Given the description of an element on the screen output the (x, y) to click on. 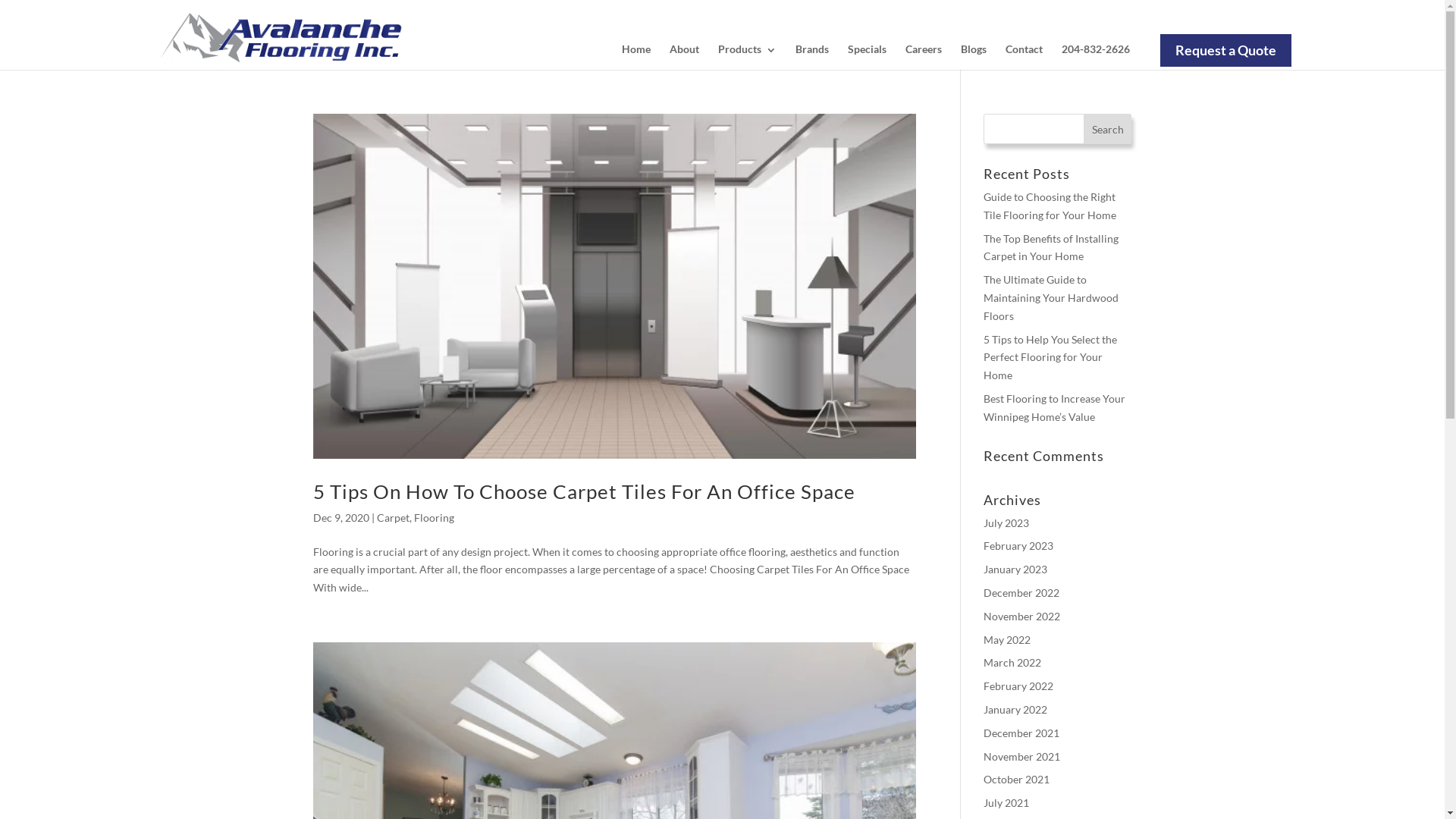
Flooring Element type: text (434, 517)
5 Tips On How To Choose Carpet Tiles For An Office Space Element type: text (583, 491)
Contact Element type: text (1023, 51)
Careers Element type: text (923, 51)
March 2022 Element type: text (1012, 661)
January 2023 Element type: text (1015, 568)
February 2022 Element type: text (1018, 685)
Carpet Element type: text (392, 517)
Guide to Choosing the Right Tile Flooring for Your Home Element type: text (1049, 205)
Specials Element type: text (866, 51)
November 2021 Element type: text (1021, 755)
Home Element type: text (635, 51)
Products Element type: text (746, 51)
December 2022 Element type: text (1021, 592)
July 2021 Element type: text (1006, 802)
Request a Quote Element type: text (1225, 50)
December 2021 Element type: text (1021, 732)
January 2022 Element type: text (1015, 708)
204-832-2626 Element type: text (1095, 51)
February 2023 Element type: text (1018, 545)
The Ultimate Guide to Maintaining Your Hardwood Floors Element type: text (1050, 297)
May 2022 Element type: text (1006, 639)
Search Element type: text (1107, 128)
November 2022 Element type: text (1021, 615)
5 Tips to Help You Select the Perfect Flooring for Your Home Element type: text (1050, 357)
July 2023 Element type: text (1006, 522)
Blogs Element type: text (972, 51)
About Element type: text (683, 51)
October 2021 Element type: text (1016, 778)
The Top Benefits of Installing Carpet in Your Home Element type: text (1050, 247)
Brands Element type: text (811, 51)
